Given the description of an element on the screen output the (x, y) to click on. 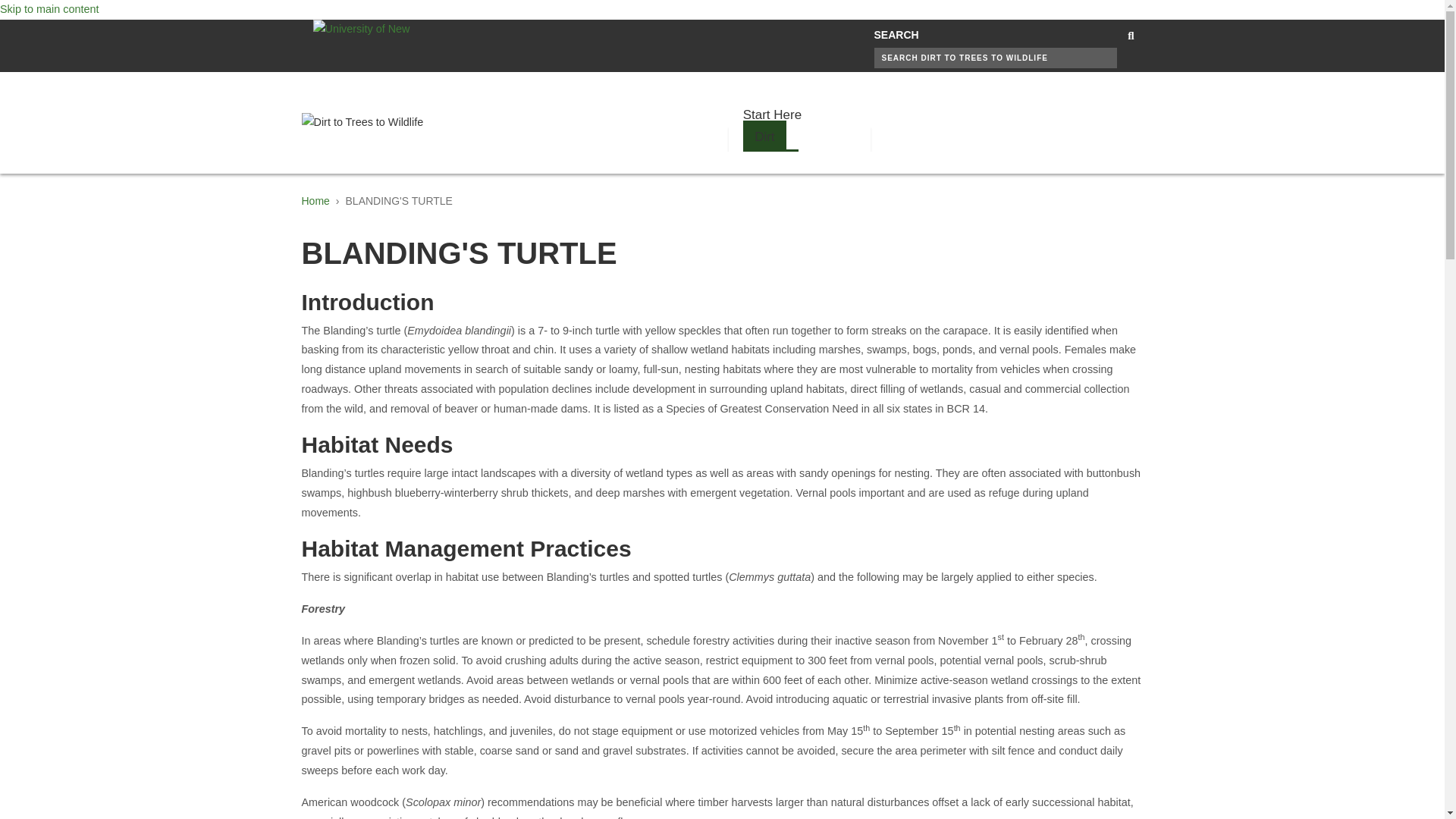
Home (315, 200)
Dirt (764, 136)
Dirt to Trees to Wildlife (362, 121)
Trees (769, 165)
Skip to main content (49, 9)
Enter the terms you wish to search for. (994, 57)
Dirt to Trees to Wildlife (362, 122)
Start Here (772, 114)
